Given the description of an element on the screen output the (x, y) to click on. 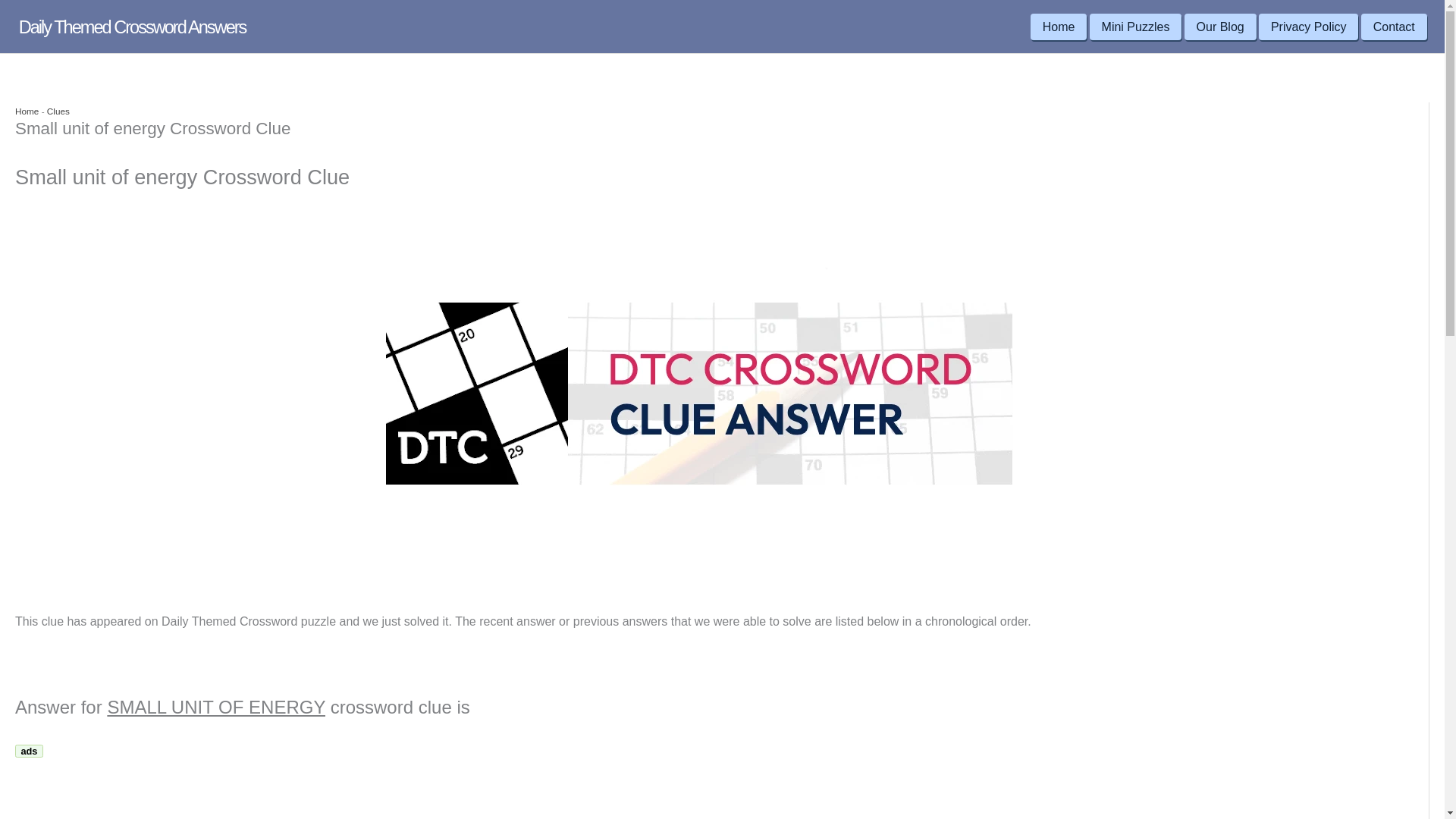
Privacy Policy (1308, 26)
Mini Puzzles (1135, 26)
Home (26, 111)
Clues (57, 111)
Home (1058, 26)
Contact (1393, 26)
Daily Themed Crossword Answers (131, 26)
Our Blog (1220, 26)
Advertisement (141, 790)
